Given the description of an element on the screen output the (x, y) to click on. 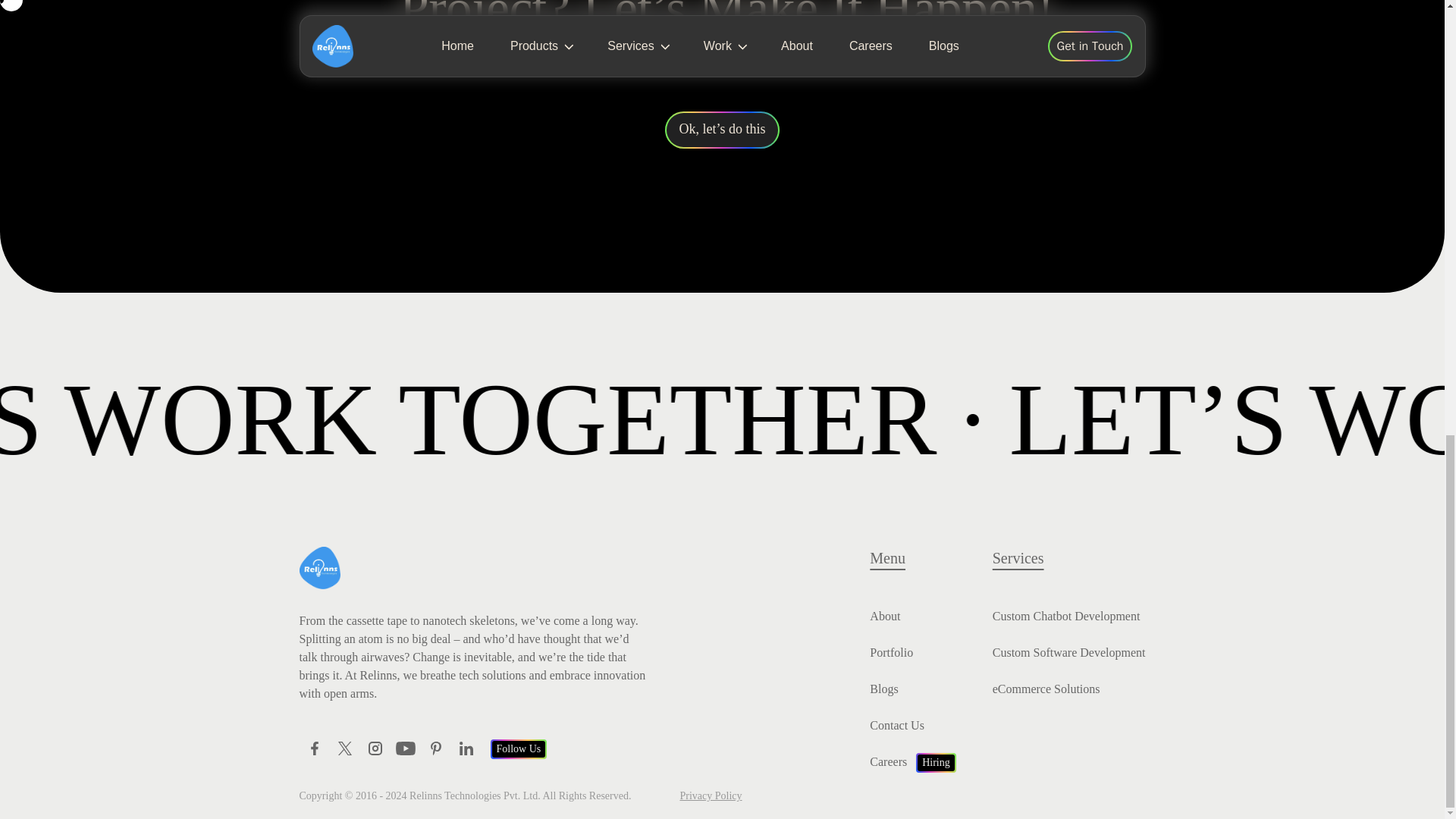
About (884, 615)
Portfolio (890, 652)
